Given the description of an element on the screen output the (x, y) to click on. 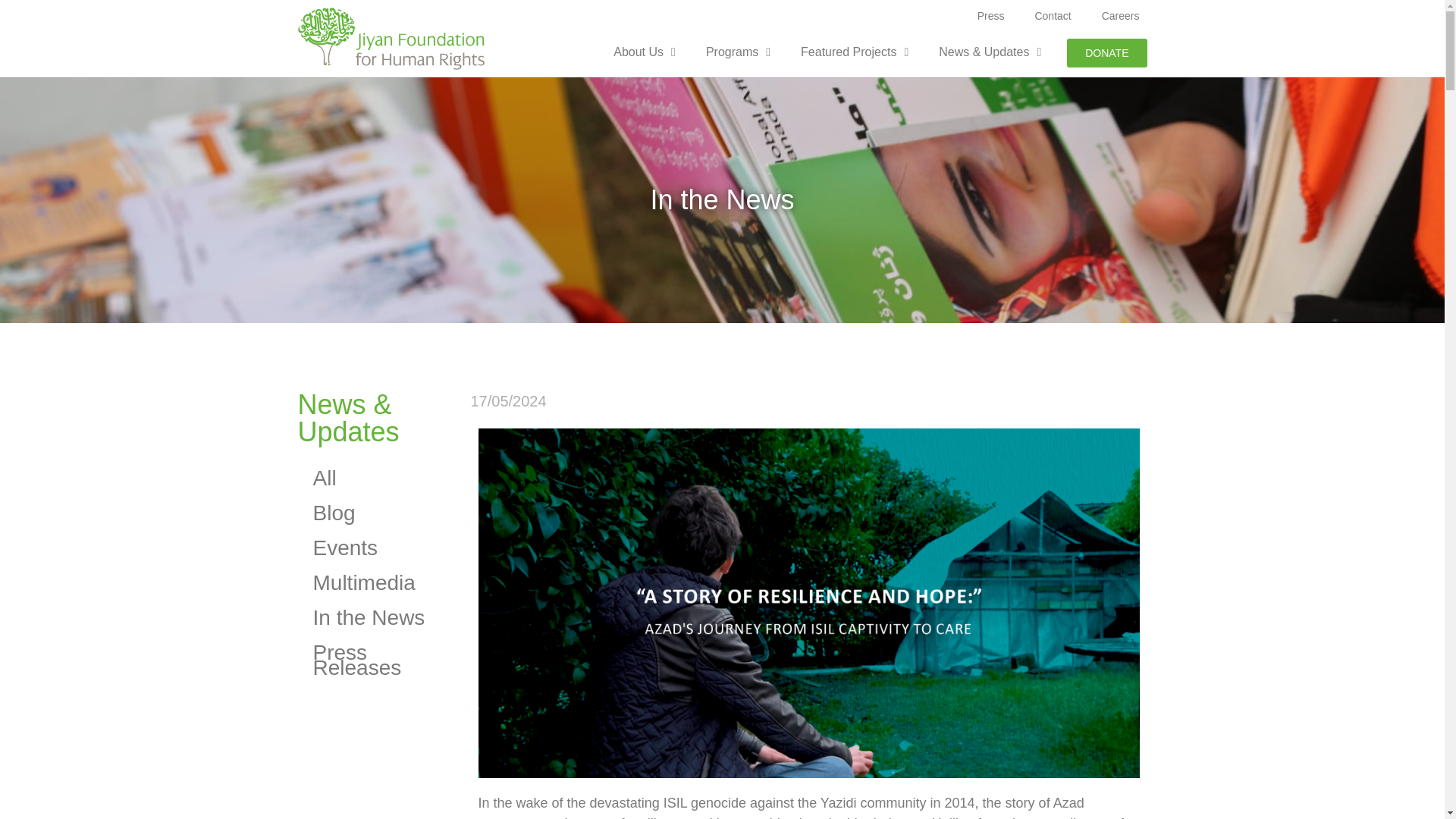
About Us (644, 52)
Careers (1120, 15)
Programs (738, 52)
Contact (1052, 15)
Featured Projects (854, 52)
Press (991, 15)
